Given the description of an element on the screen output the (x, y) to click on. 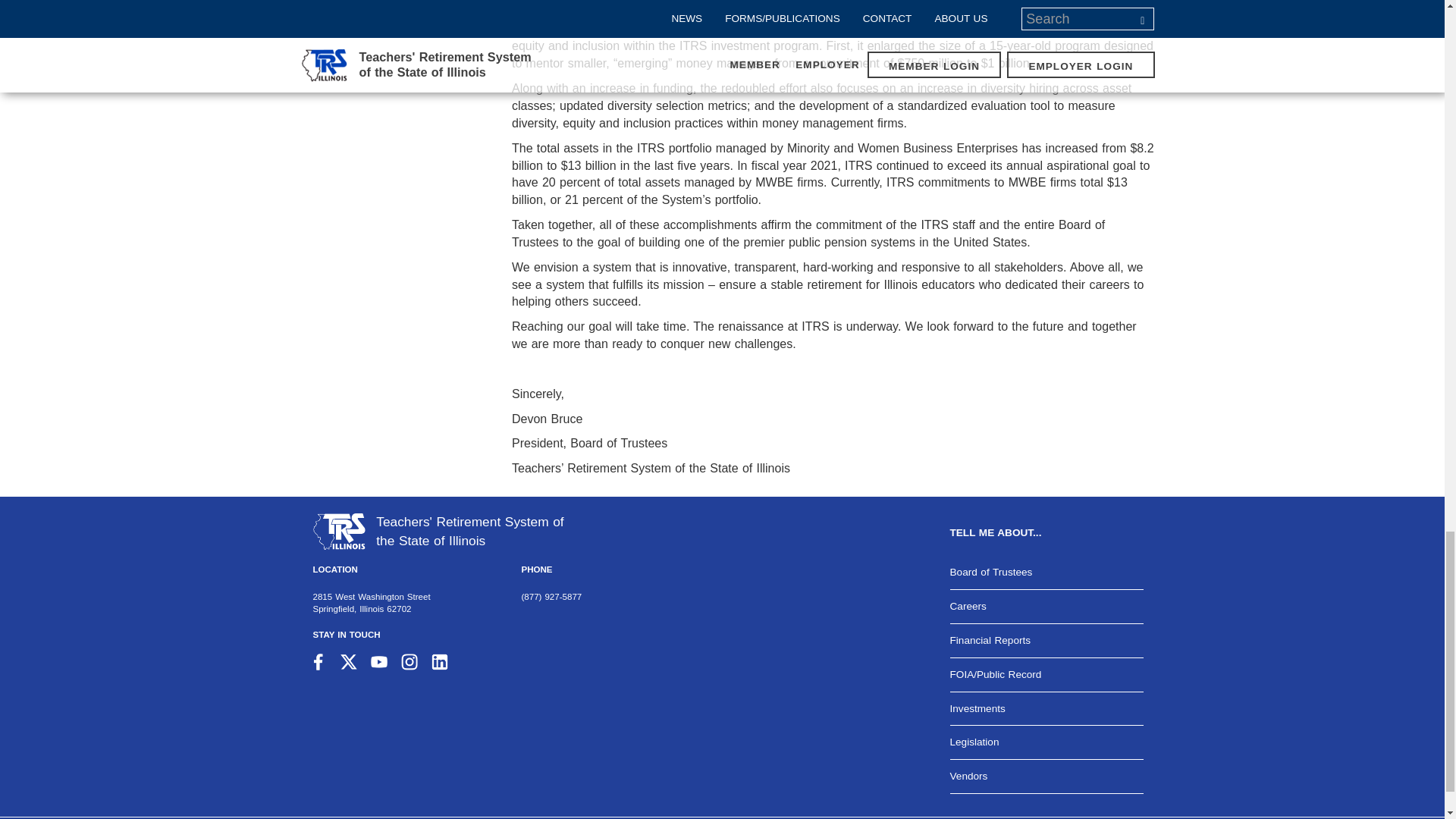
LinkedIn (439, 662)
Careers (1045, 606)
Careers (1045, 606)
Youtube (378, 662)
Disclaimer (998, 818)
Investments (1045, 708)
Facebook (317, 662)
Investments (1045, 708)
Legislation (1045, 742)
Vendors (1045, 776)
Admin (900, 818)
Instagram (409, 662)
Twitter (348, 662)
Legislation (1045, 742)
Board of Trustees (1045, 572)
